Given the description of an element on the screen output the (x, y) to click on. 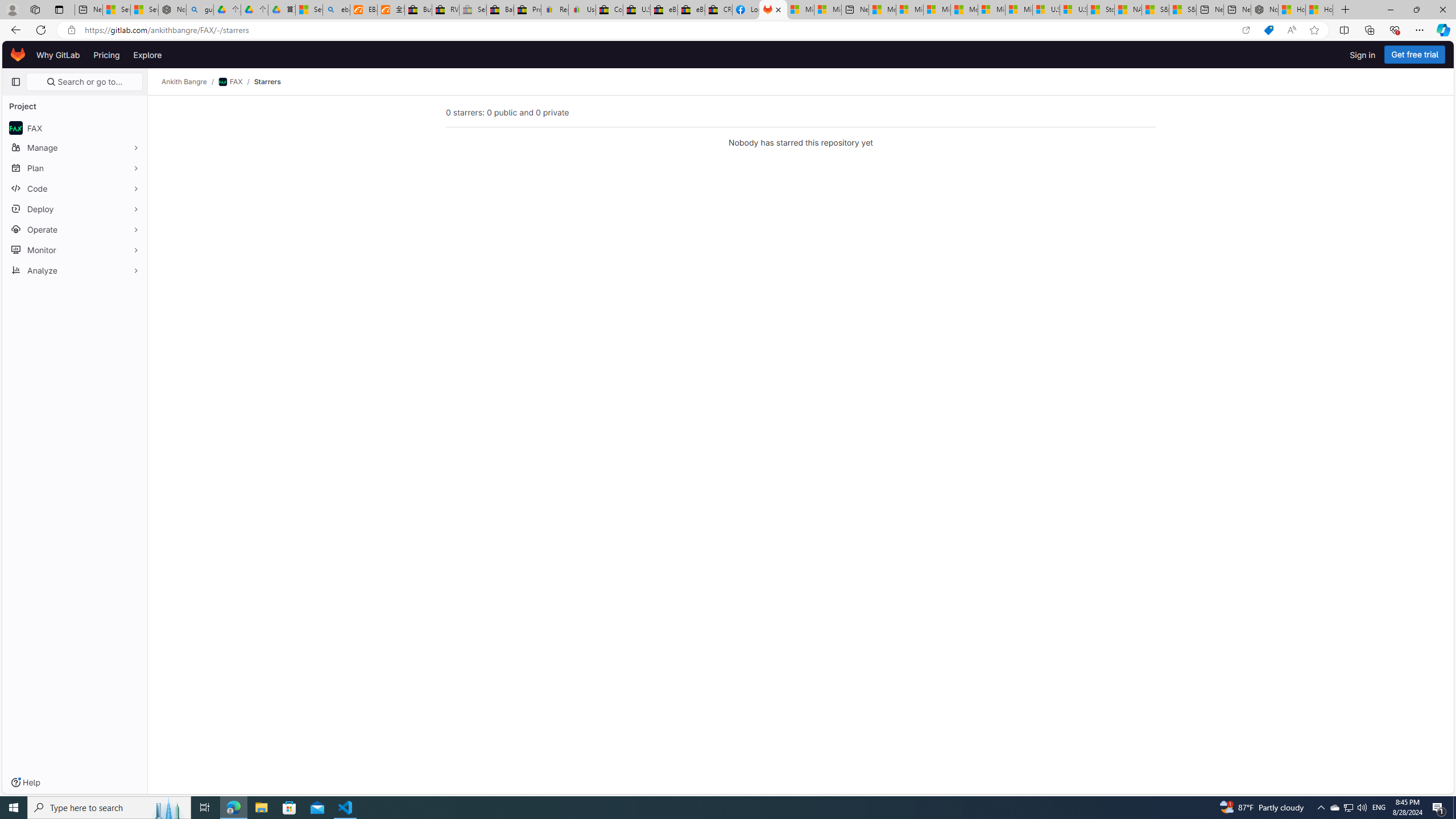
User Privacy Notice | eBay (581, 9)
Sign in (1362, 54)
avatar (15, 128)
Plan (74, 167)
Copilot (Ctrl+Shift+.) (1442, 29)
Help (25, 782)
Why GitLab (58, 54)
Shopping in Microsoft Edge (1268, 29)
Microsoft account | Home (936, 9)
FAX/ (236, 81)
Operate (74, 229)
Buy Auto Parts & Accessories | eBay (418, 9)
Sell worldwide with eBay - Sleeping (473, 9)
